Given the description of an element on the screen output the (x, y) to click on. 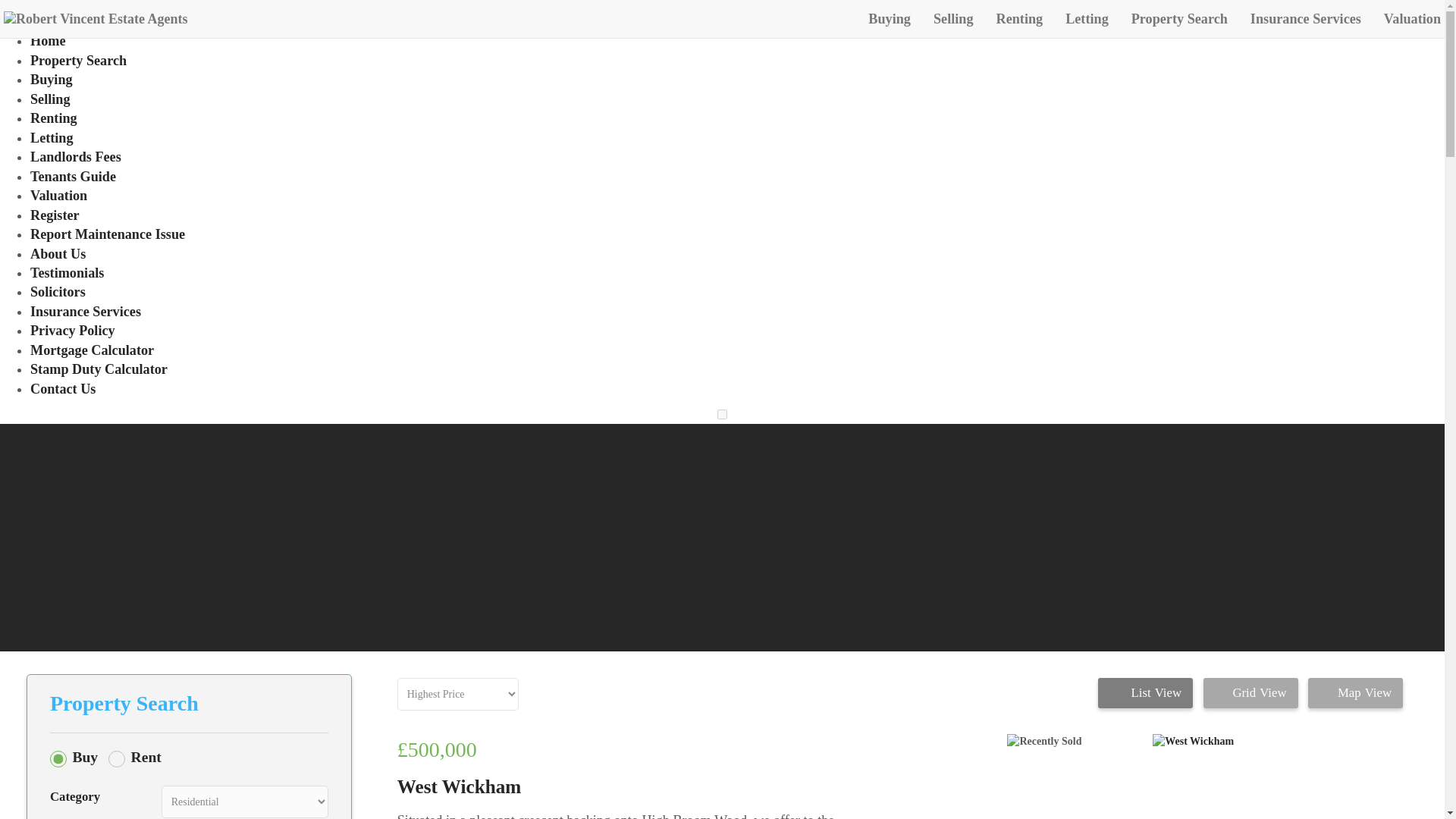
Insurance Services (1306, 18)
Contact Us (63, 388)
Valuation (58, 195)
Insurance Services (1306, 18)
Letting (1086, 18)
Buying (51, 79)
Report Maintenance Issue (107, 233)
About Us (57, 253)
Letting (1086, 18)
Selling (49, 99)
Insurance Services (85, 311)
Mortgage Calculator (92, 350)
Buying (889, 18)
Stamp Duty Calculator (98, 368)
Tenants Guide (73, 176)
